Given the description of an element on the screen output the (x, y) to click on. 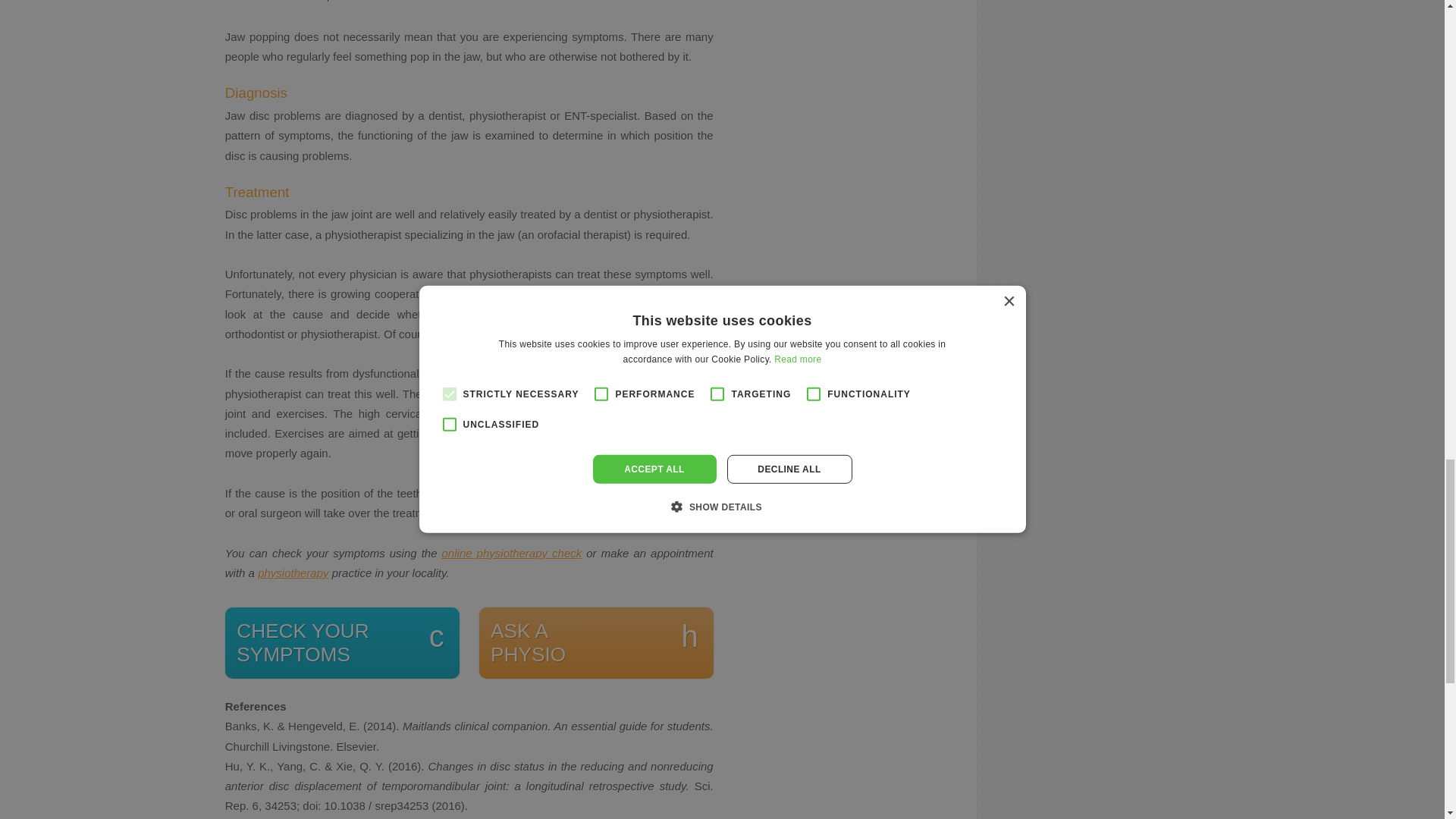
physiotherapy (293, 572)
online physiotherapy check (596, 642)
